Given the description of an element on the screen output the (x, y) to click on. 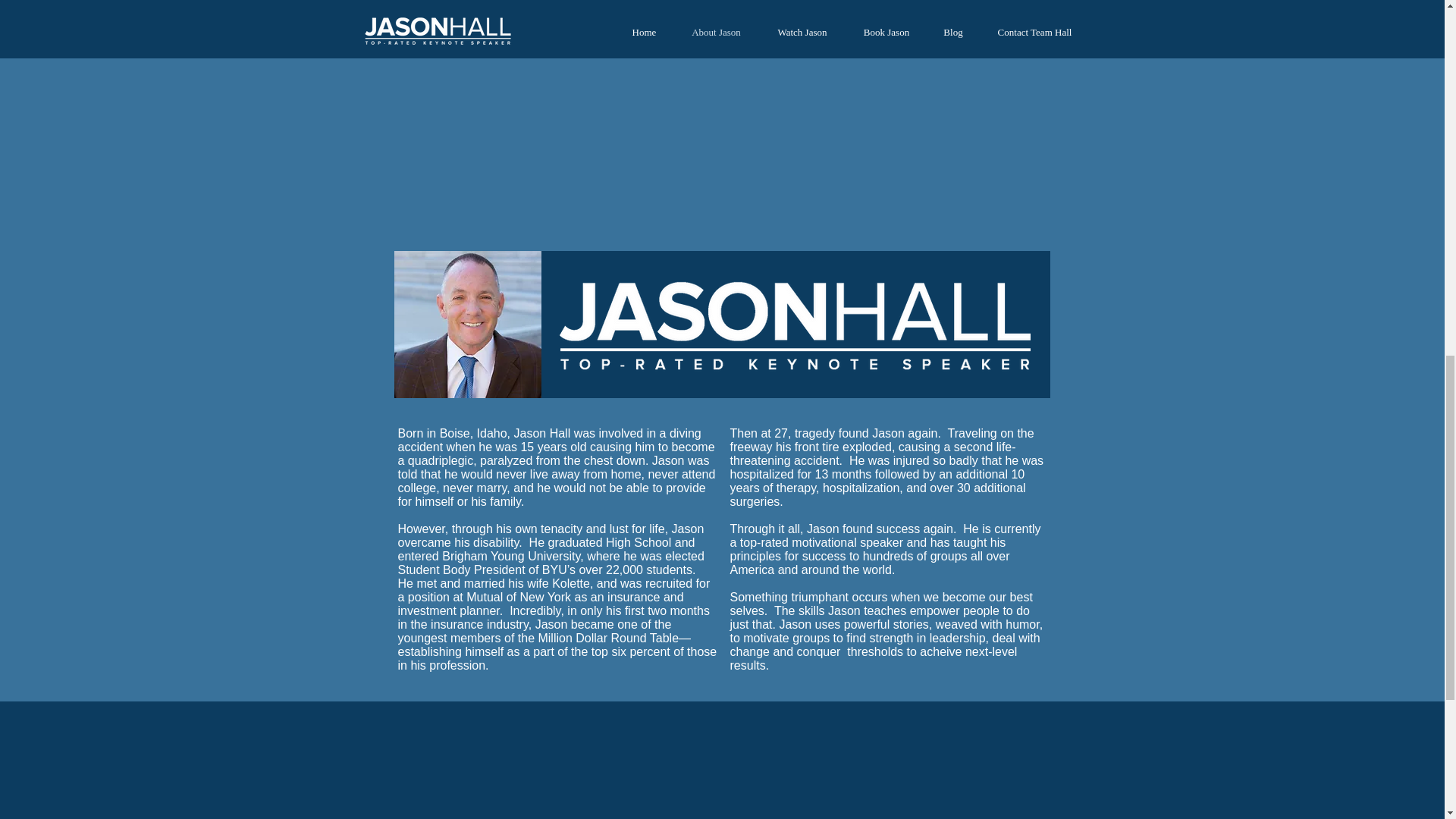
JH Logo Keynote White.png (793, 328)
JH Logo L Blue.png (795, 268)
